Given the description of an element on the screen output the (x, y) to click on. 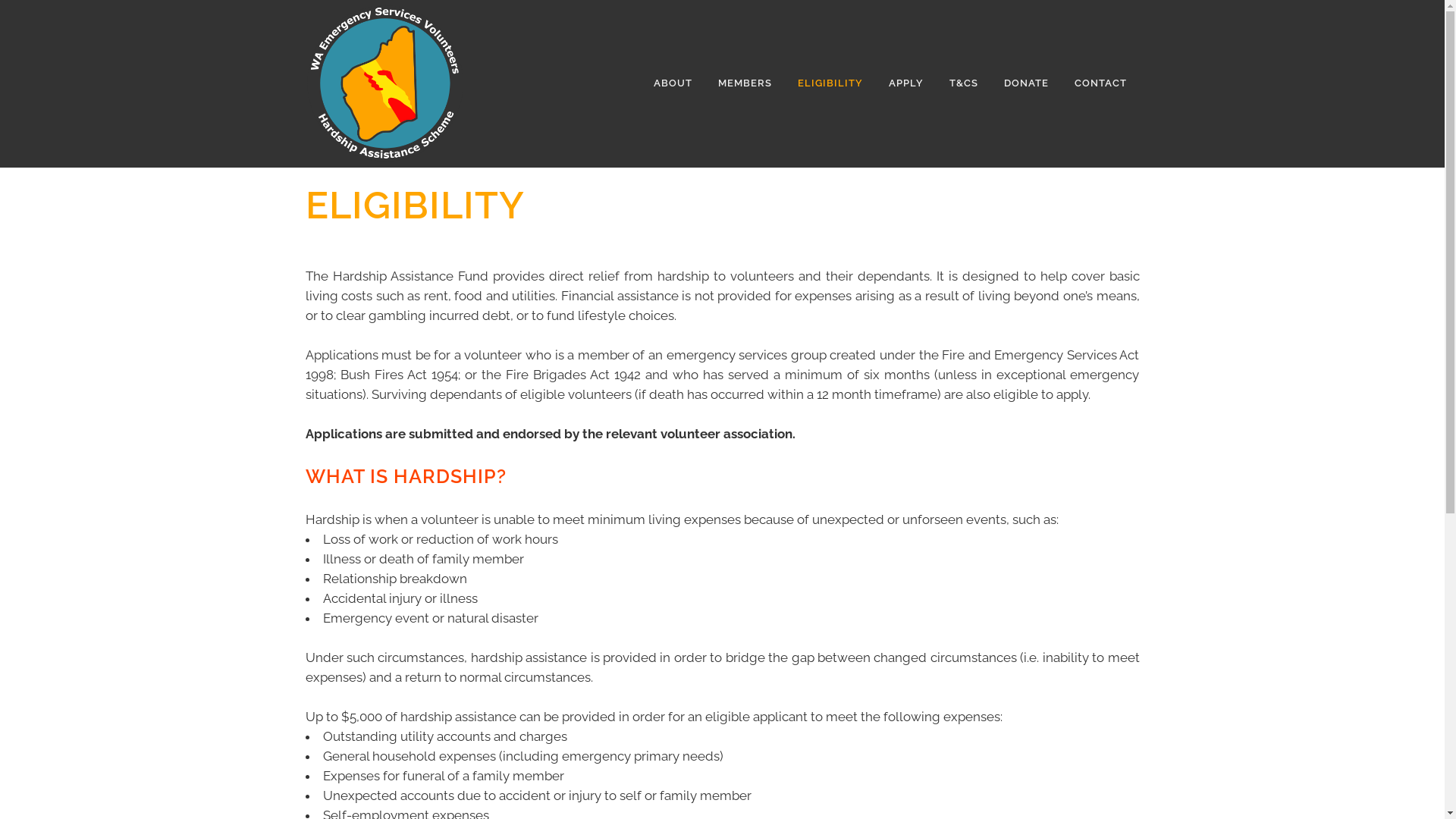
CONTACT Element type: text (1100, 83)
APPLY Element type: text (905, 83)
T&CS Element type: text (962, 83)
MEMBERS Element type: text (744, 83)
ELIGIBILITY Element type: text (829, 83)
ABOUT Element type: text (672, 83)
DONATE Element type: text (1025, 83)
